Given the description of an element on the screen output the (x, y) to click on. 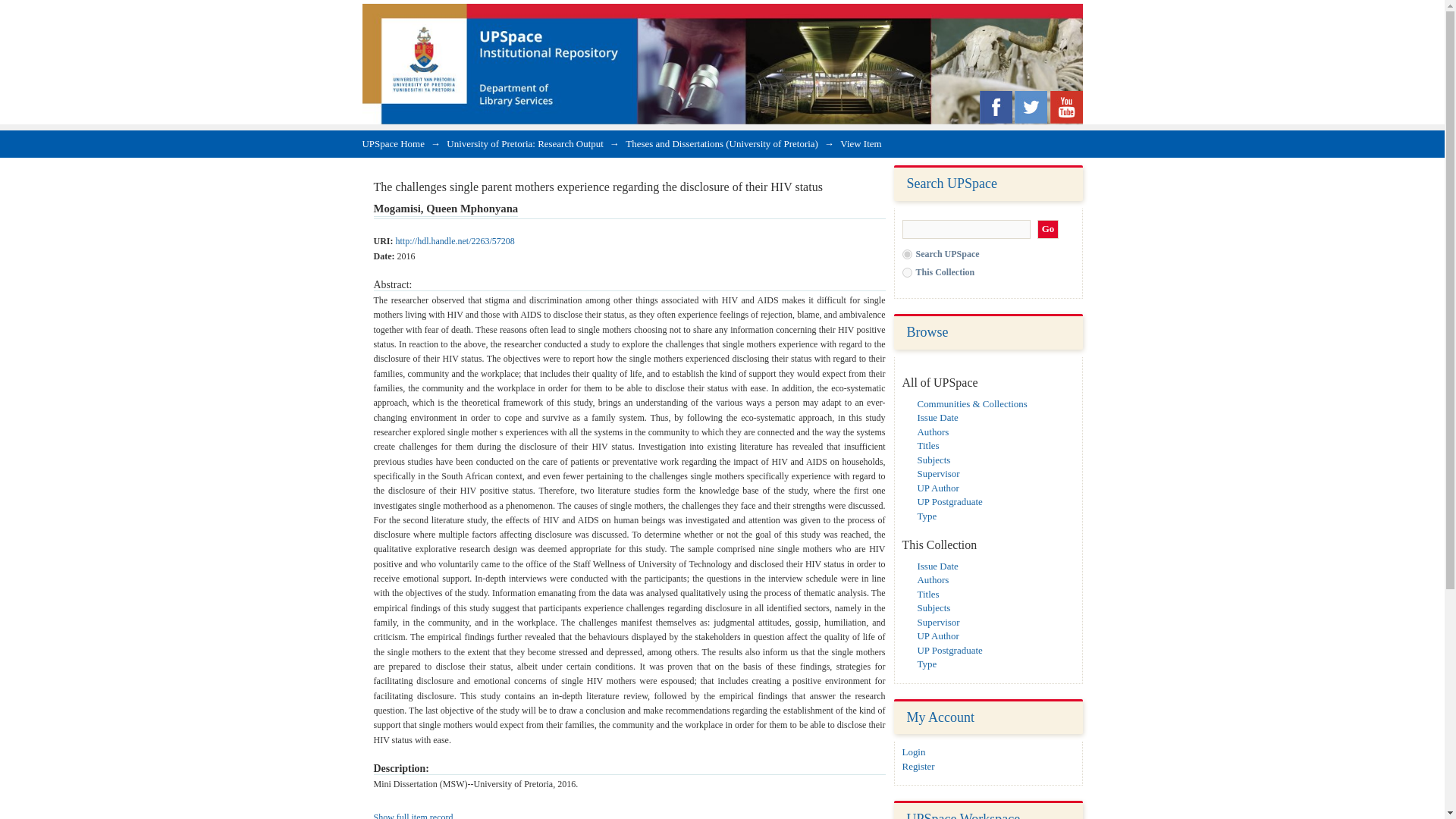
Go (1047, 229)
UP Postgraduate (949, 650)
University of Pretoria: Research Output (524, 143)
UP Author (938, 487)
Titles (928, 593)
Subjects (933, 459)
Issue Date (937, 417)
Titles (928, 445)
Authors (933, 431)
UPSpace Home (393, 143)
